Given the description of an element on the screen output the (x, y) to click on. 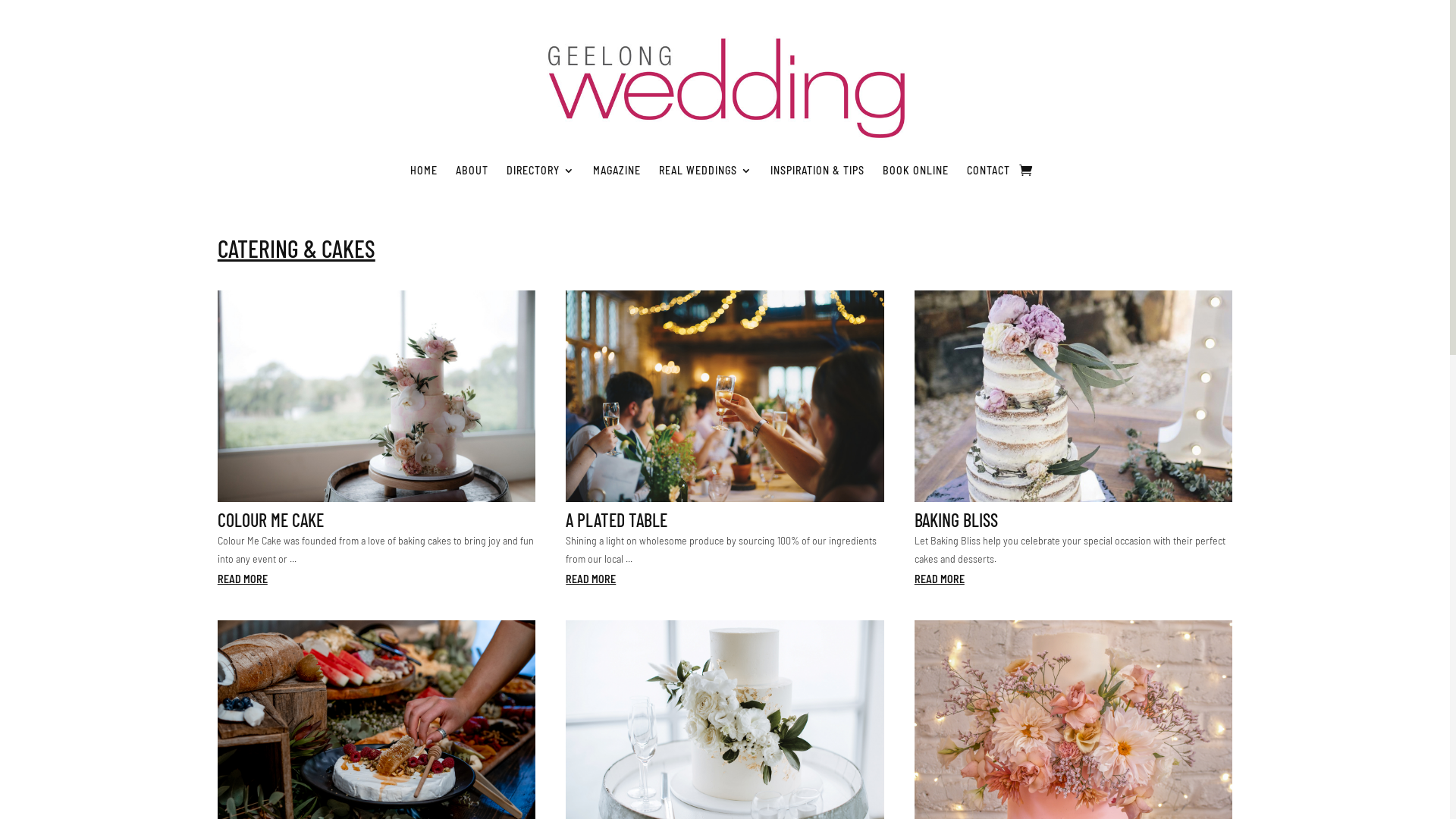
DIRECTORY Element type: text (540, 170)
BAKING BLISS Element type: text (955, 520)
REAL WEDDINGS Element type: text (705, 170)
COLOUR ME CAKE Element type: text (270, 520)
A PLATED TABLE Element type: text (616, 520)
HOME Element type: text (423, 170)
READ MORE Element type: text (939, 578)
INSPIRATION & TIPS Element type: text (817, 170)
ABOUT Element type: text (471, 170)
MAGAZINE Element type: text (616, 170)
CONTACT Element type: text (988, 170)
READ MORE Element type: text (242, 578)
READ MORE Element type: text (590, 578)
BOOK ONLINE Element type: text (915, 170)
